Given the description of an element on the screen output the (x, y) to click on. 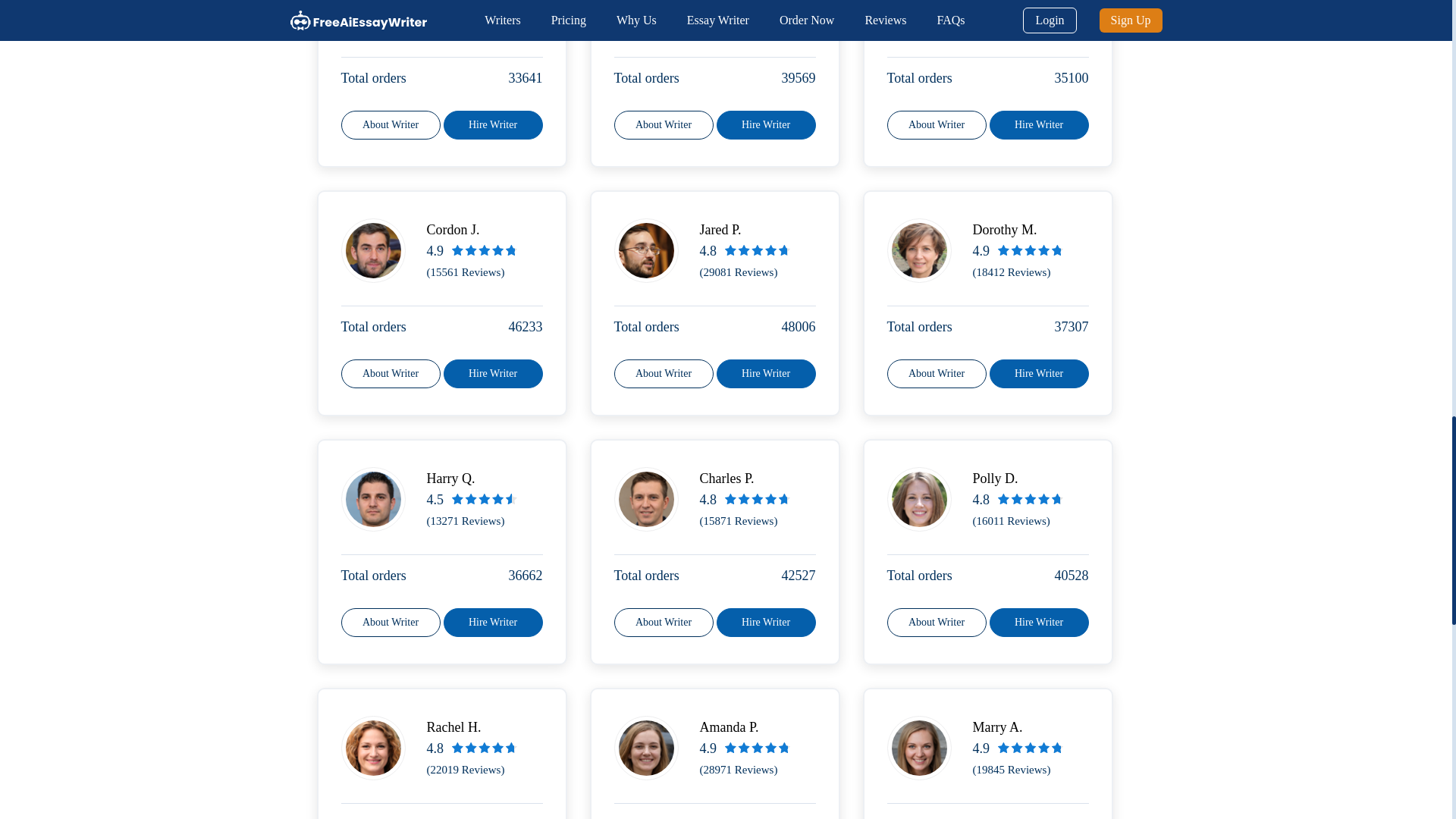
About Writer (390, 373)
About Writer (663, 373)
Hire Writer (491, 373)
Hire Writer (765, 124)
About Writer (390, 124)
Hire Writer (1037, 373)
About Writer (936, 124)
Hire Writer (765, 373)
About Writer (663, 124)
Hire Writer (491, 622)
About Writer (663, 622)
About Writer (390, 622)
Hire Writer (1037, 124)
Hire Writer (491, 124)
About Writer (936, 373)
